Given the description of an element on the screen output the (x, y) to click on. 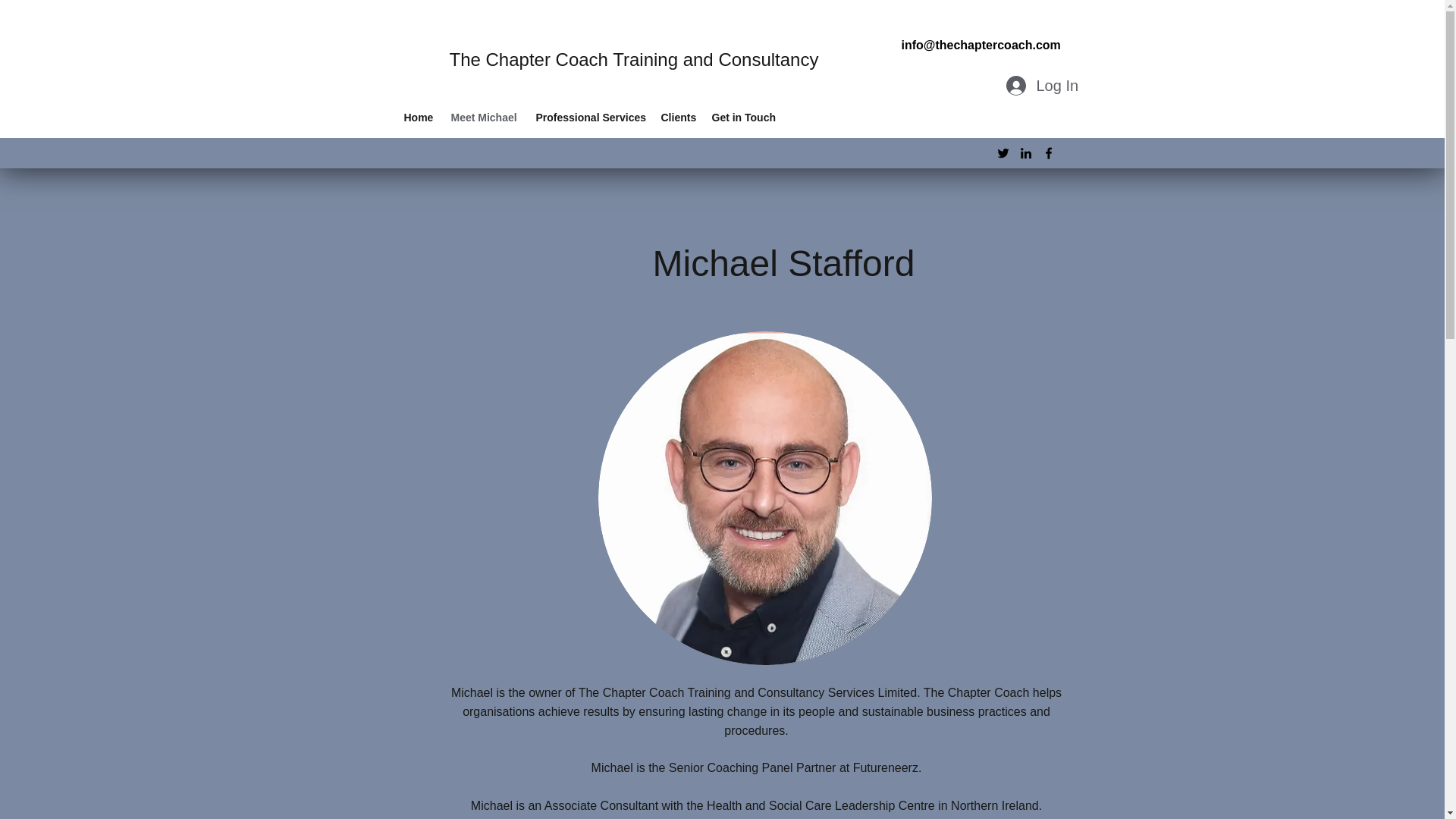
Professional Services (589, 117)
Get in Touch (743, 117)
Clients (678, 117)
Home (419, 117)
Log In (1040, 85)
Meet Michael (484, 117)
